Given the description of an element on the screen output the (x, y) to click on. 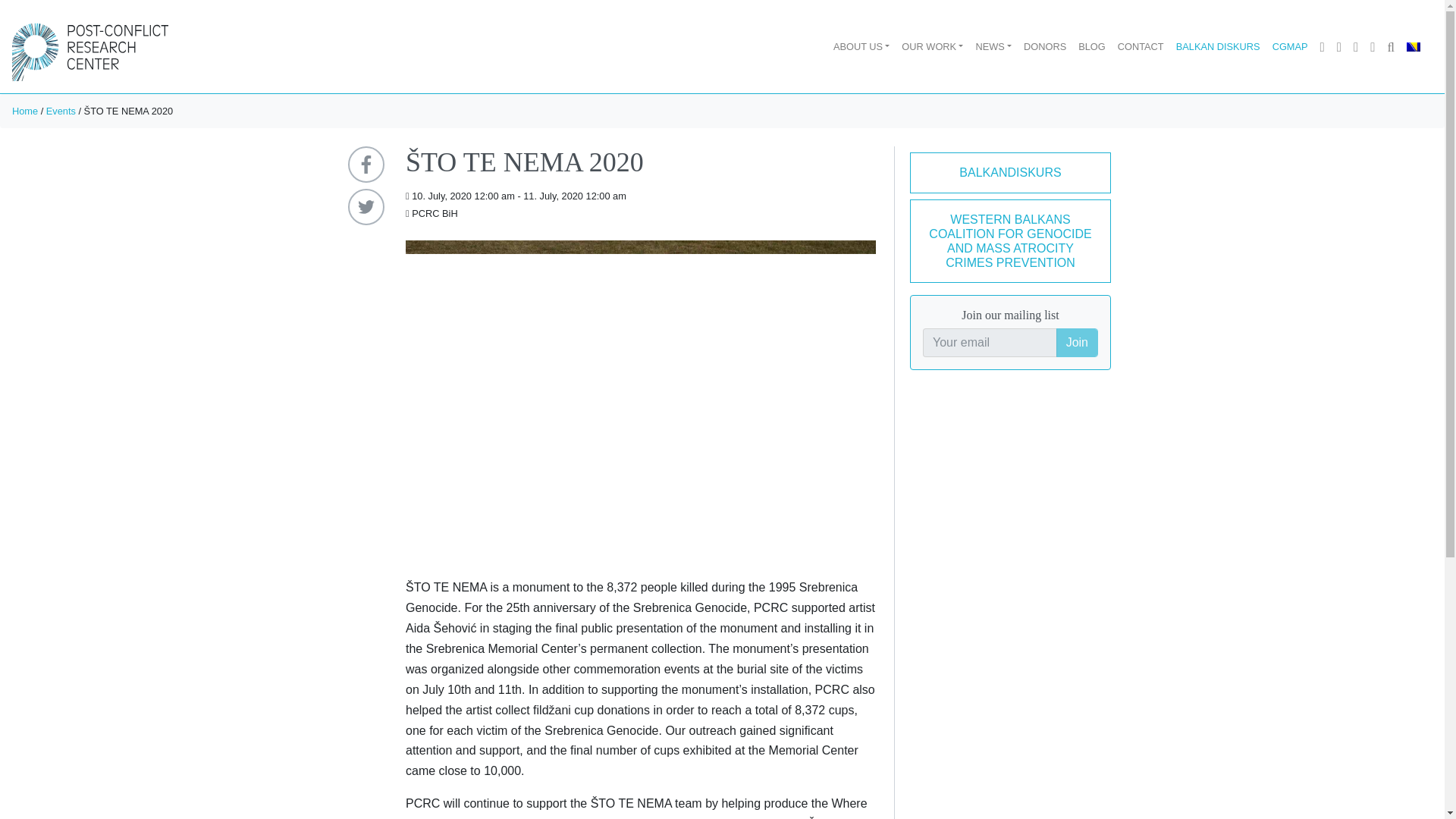
Home (24, 111)
CONTACT (1141, 46)
Search (1390, 46)
BALKAN DISKURS (1218, 46)
Events (60, 111)
Go to Post Conflict Research Center. (24, 111)
DONORS (1044, 46)
Post-Conflict Research Center Facebook (1322, 46)
BLOG (1091, 46)
BALKANDISKURS (1010, 172)
OUR WORK (932, 46)
ABOUT US (861, 46)
Post-Conflict Research Center Instagram (1356, 46)
Go to Events. (60, 111)
